Given the description of an element on the screen output the (x, y) to click on. 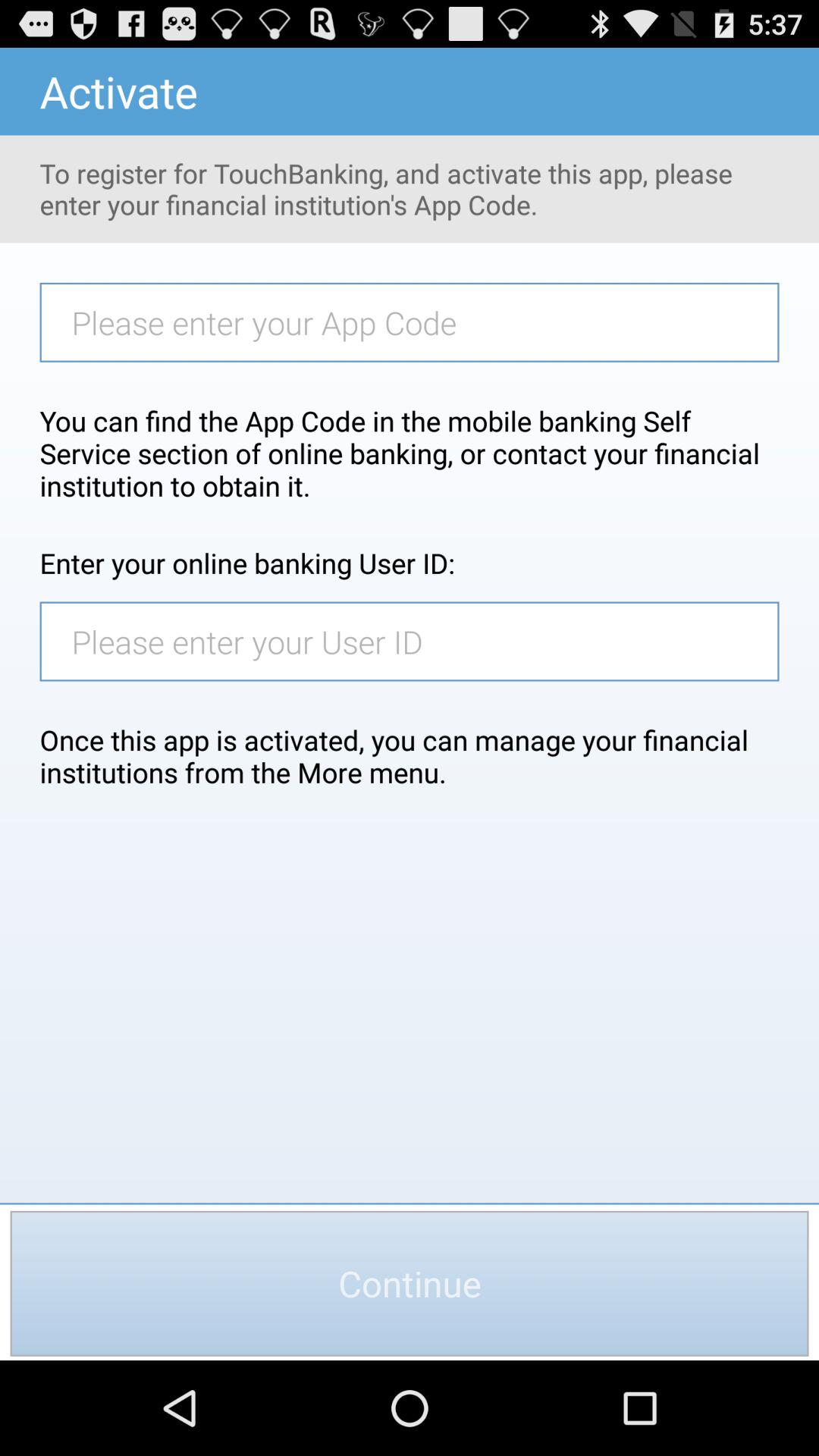
launch icon above once this app (417, 641)
